Given the description of an element on the screen output the (x, y) to click on. 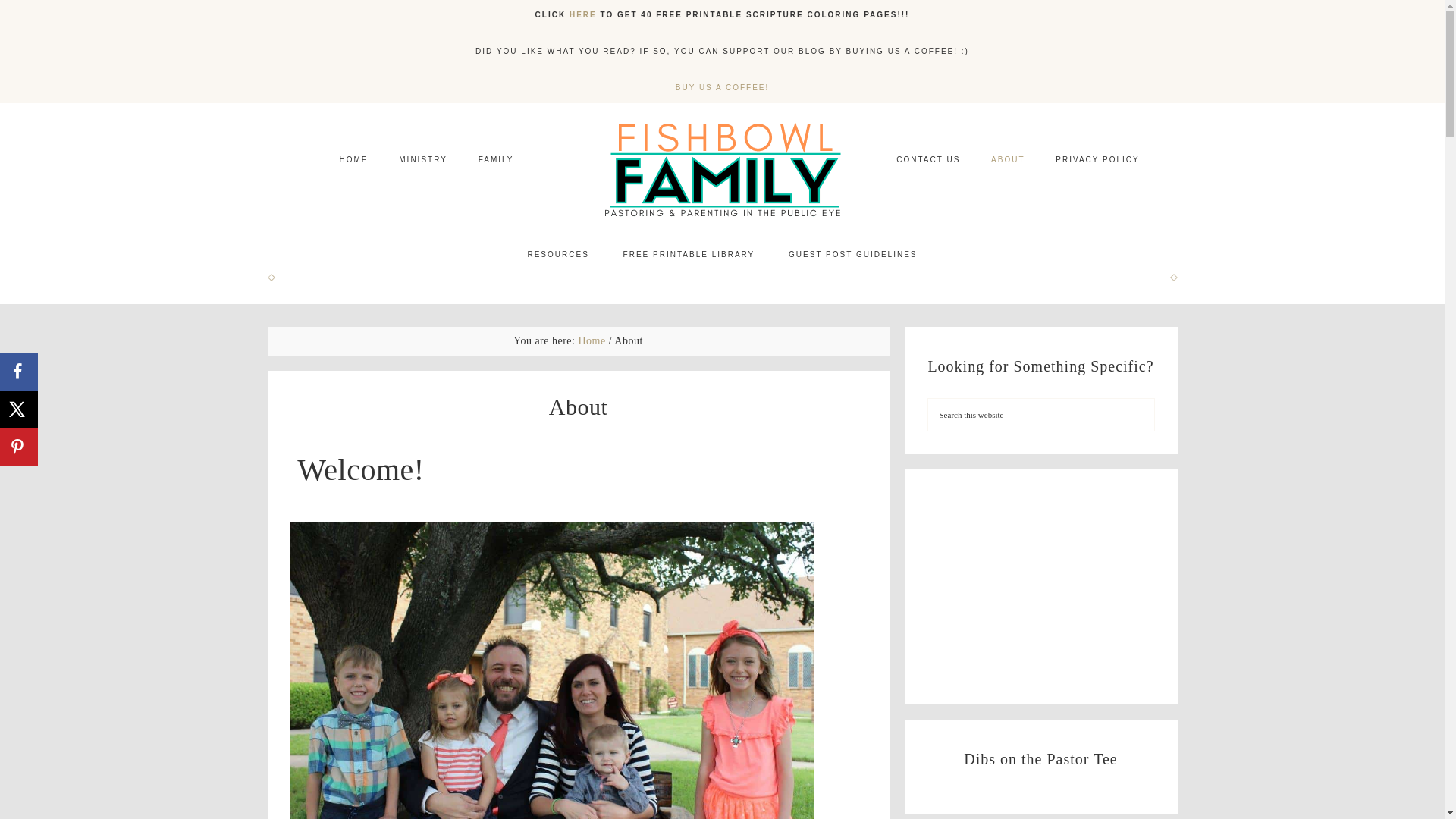
HERE (582, 14)
ABOUT (1007, 159)
GUEST POST GUIDELINES (852, 254)
Save to Pinterest (18, 447)
CONTACT US (928, 159)
MINISTRY (423, 159)
BUY US A COFFEE! (722, 87)
HOME (353, 159)
PRIVACY POLICY (1097, 159)
FREE PRINTABLE LIBRARY (689, 254)
FISHBOWL FAMILY (722, 169)
FAMILY (495, 159)
